Given the description of an element on the screen output the (x, y) to click on. 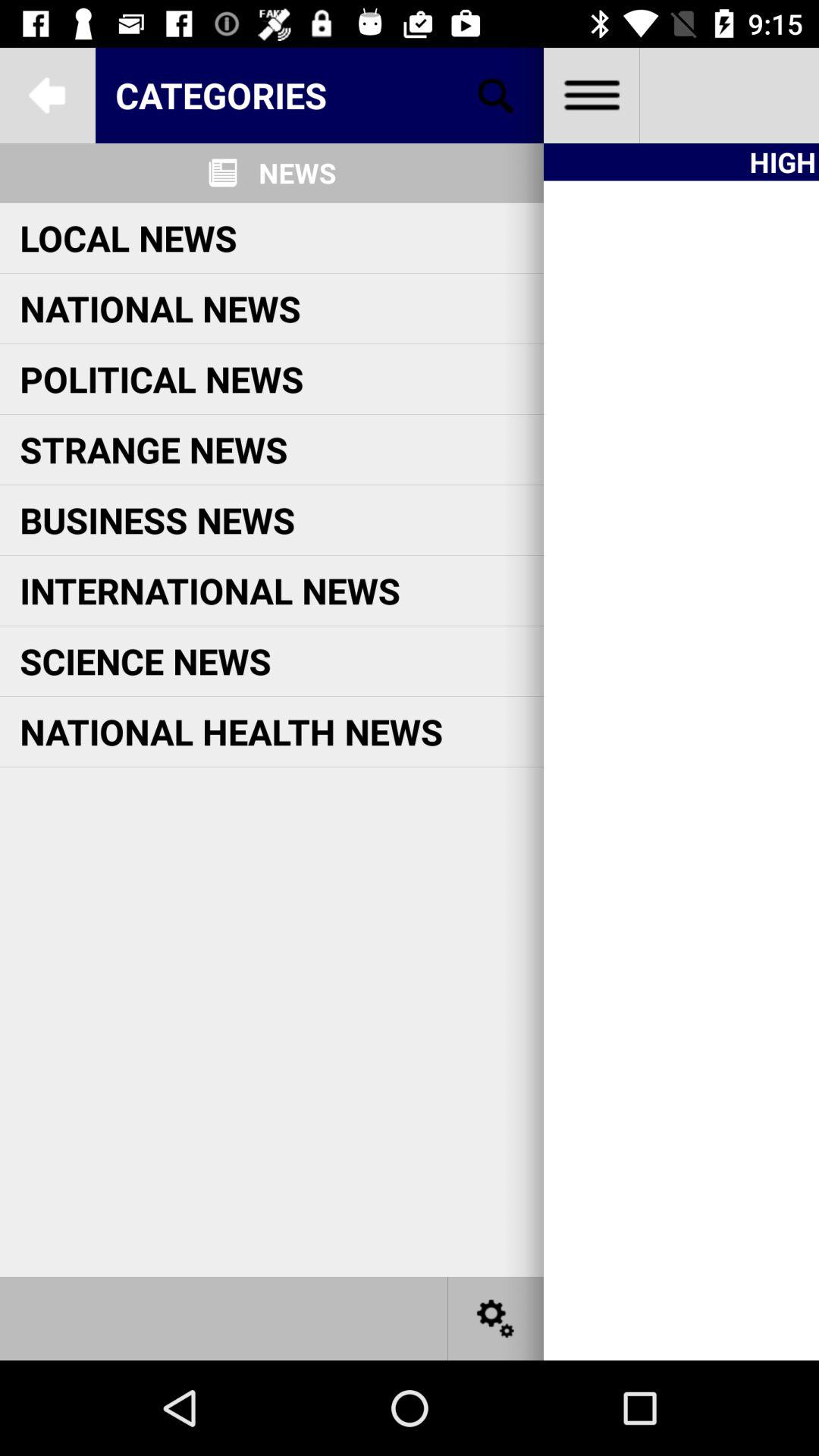
go to all files (591, 95)
